Given the description of an element on the screen output the (x, y) to click on. 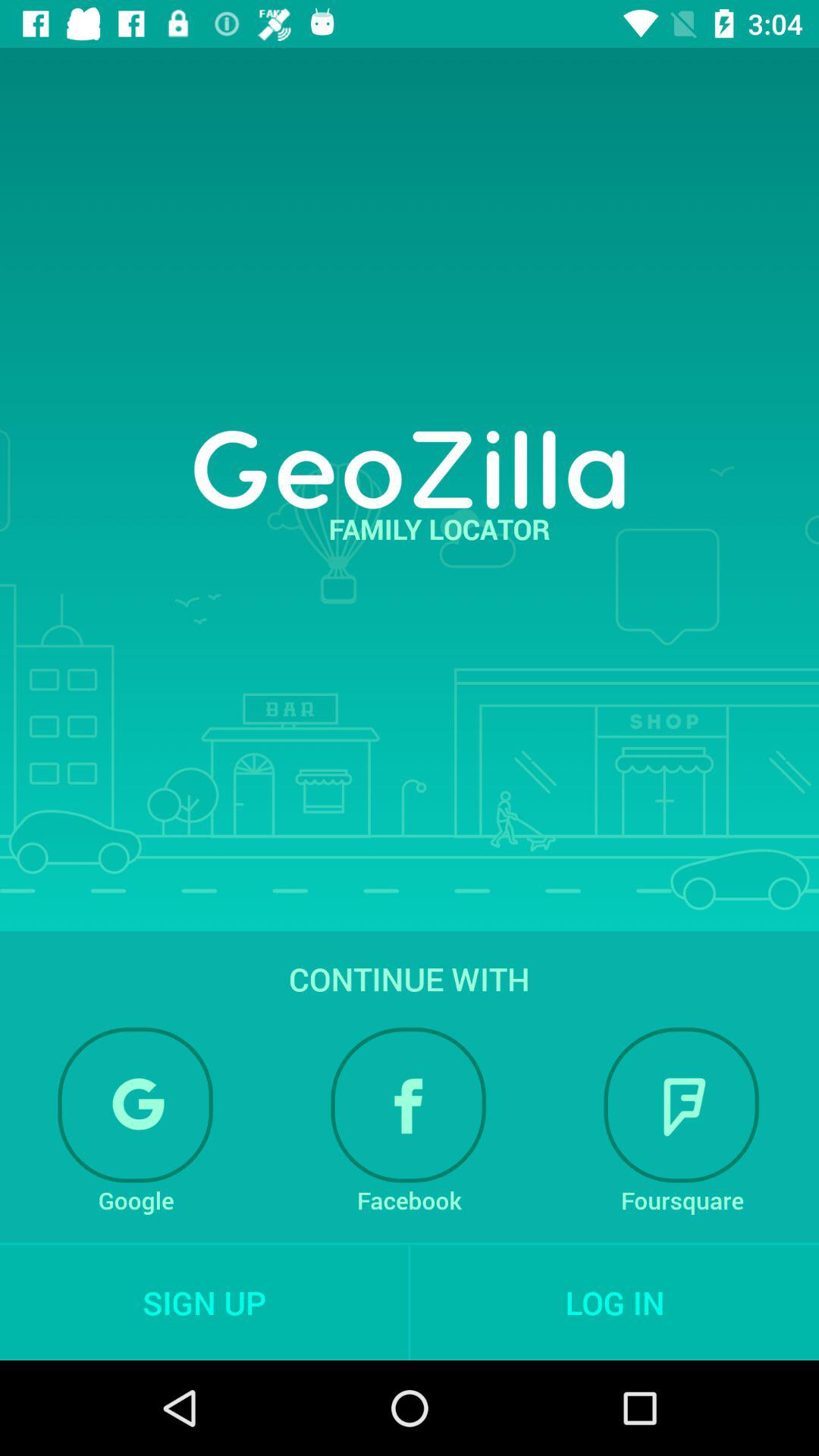
open log in item (614, 1302)
